Given the description of an element on the screen output the (x, y) to click on. 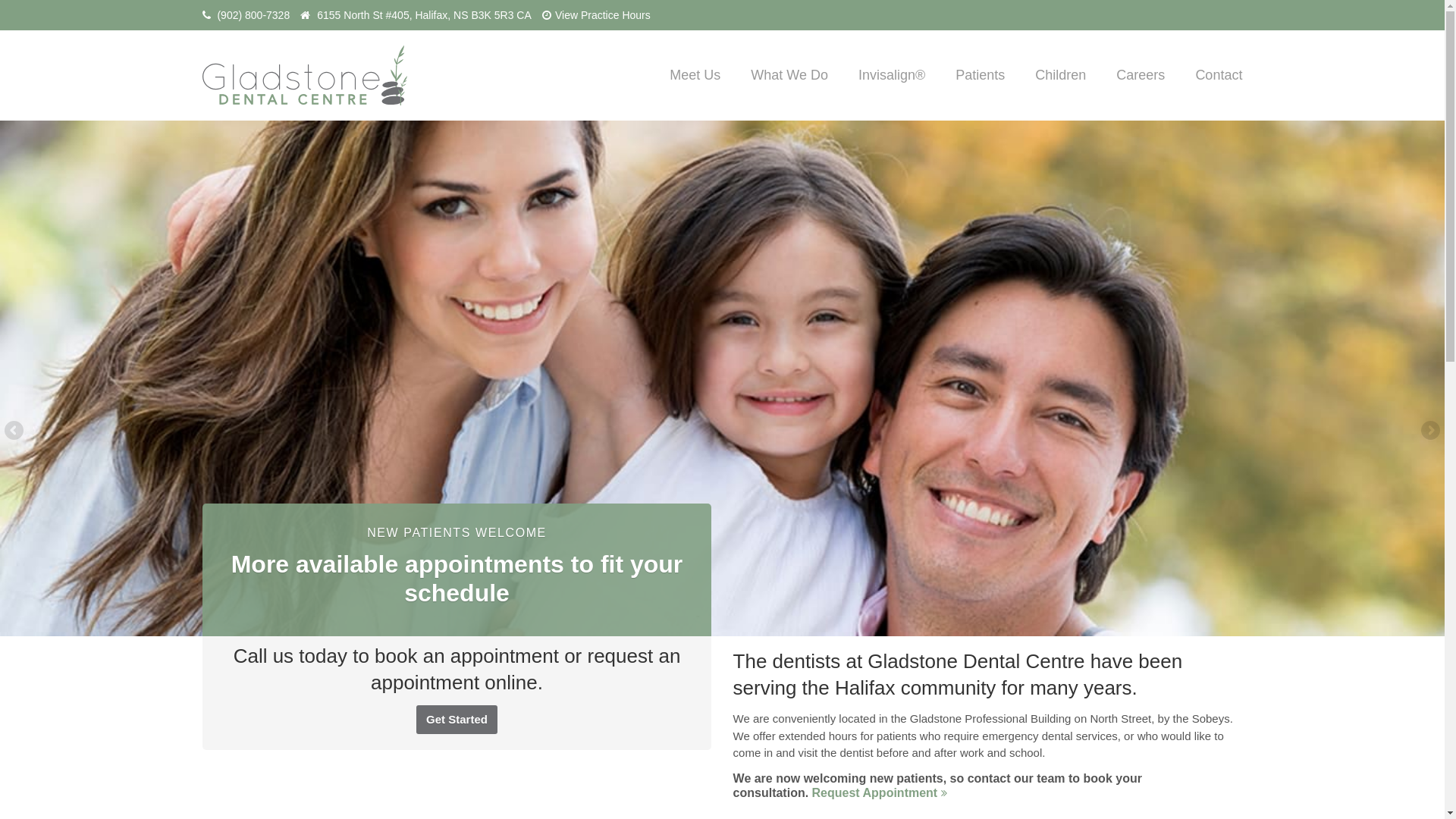
Patients Element type: text (979, 74)
Welcoming New Patients, Halifax Dentists Element type: hover (722, 378)
What We Do Element type: text (789, 74)
Request Appointment Element type: text (879, 792)
Get Started Element type: text (456, 719)
Previous Element type: text (14, 431)
(902) 800-7328 Element type: text (252, 15)
Contact Element type: text (1218, 74)
Meet Us Element type: text (694, 74)
Next Element type: text (1429, 431)
Children Element type: text (1060, 74)
Careers Element type: text (1140, 74)
View Practice Hours Element type: text (602, 15)
